Given the description of an element on the screen output the (x, y) to click on. 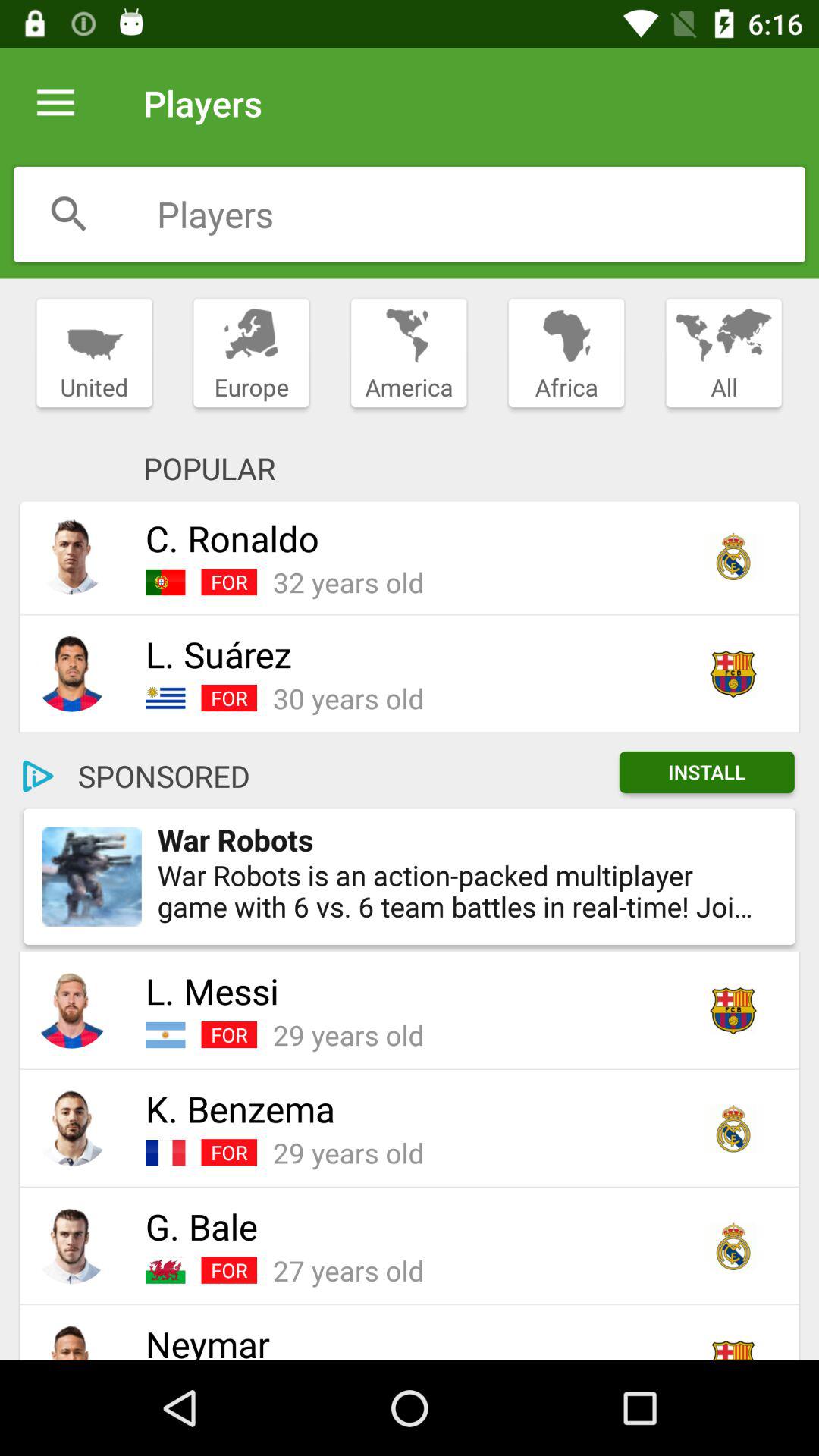
search the any one (69, 214)
